Given the description of an element on the screen output the (x, y) to click on. 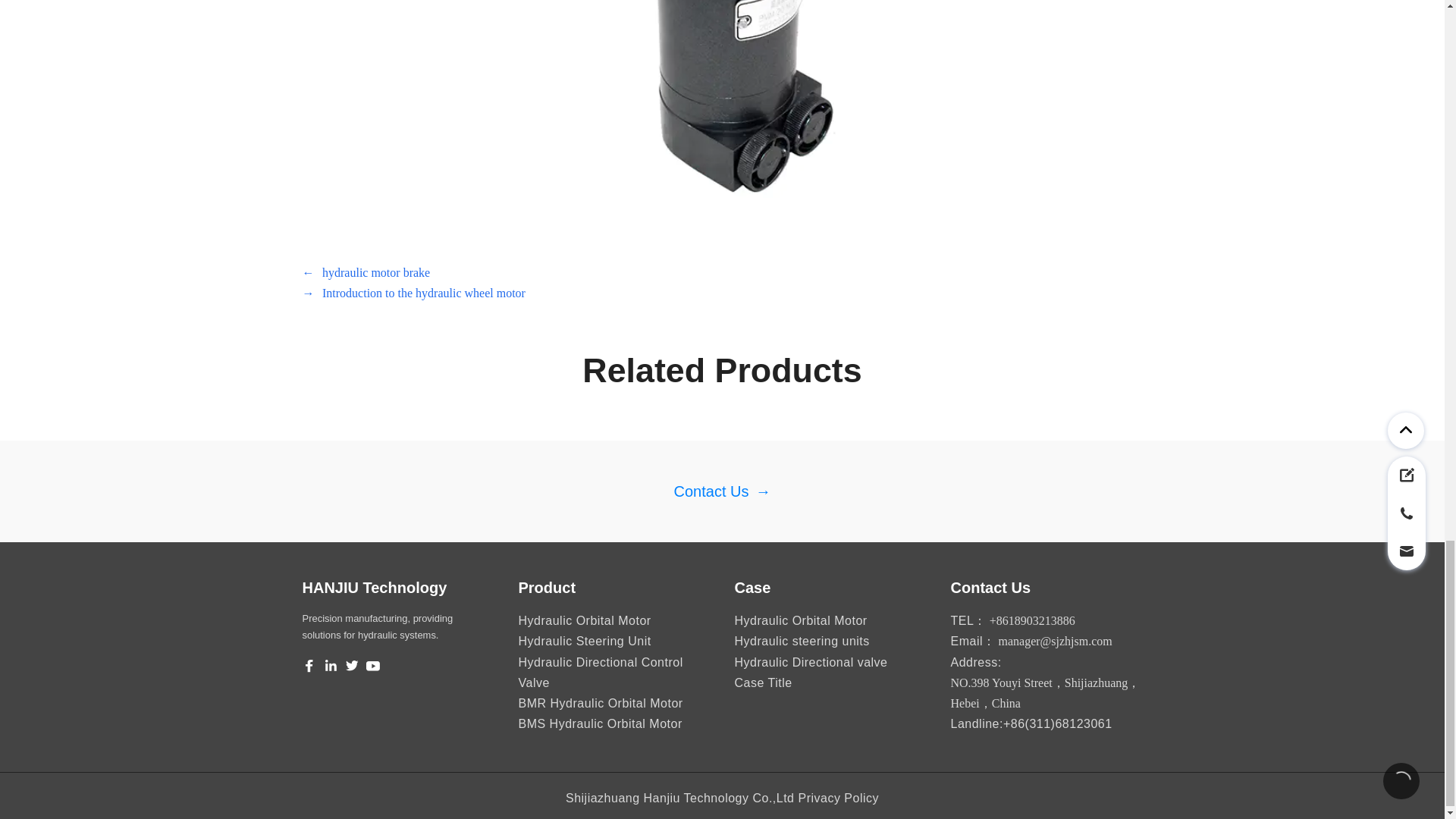
Hydraulic Directional Control Valve (614, 682)
BMS Hydraulic Orbital Motor (600, 723)
Introduction to the hydraulic wheel motor (423, 292)
Hydraulic Orbital Motor (799, 620)
Hydraulic steering units (801, 640)
Case Title (762, 682)
hydraulic motor brake (375, 272)
Hydraulic Orbital Motor (584, 620)
BMR Hydraulic Orbital Motor (600, 703)
Hydraulic Steering Unit (584, 640)
